Given the description of an element on the screen output the (x, y) to click on. 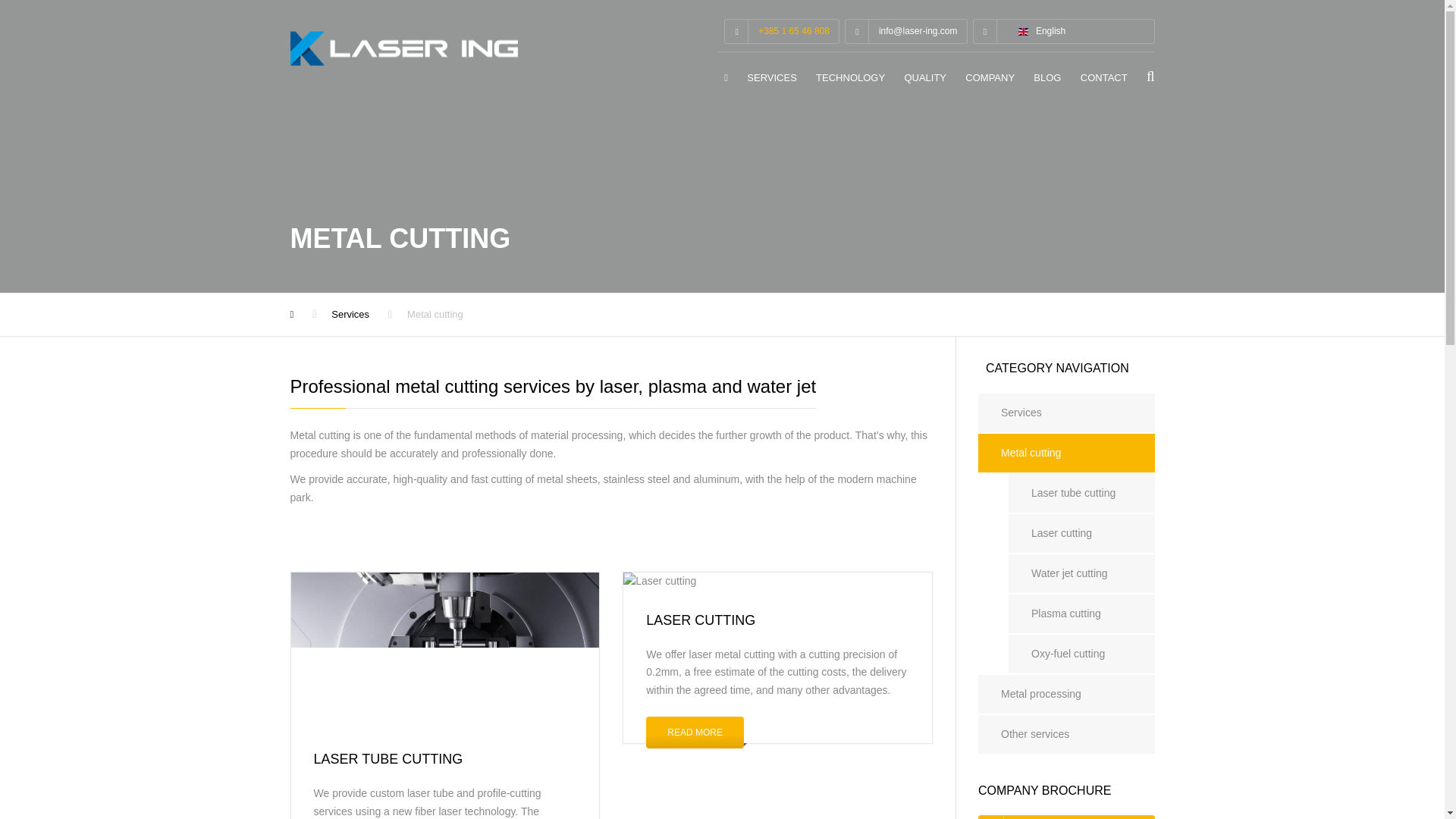
QUALITY (924, 81)
English (1042, 31)
SERVICES (772, 81)
TECHNOLOGY (850, 81)
CONTACT (1104, 81)
COMPANY (990, 81)
